Given the description of an element on the screen output the (x, y) to click on. 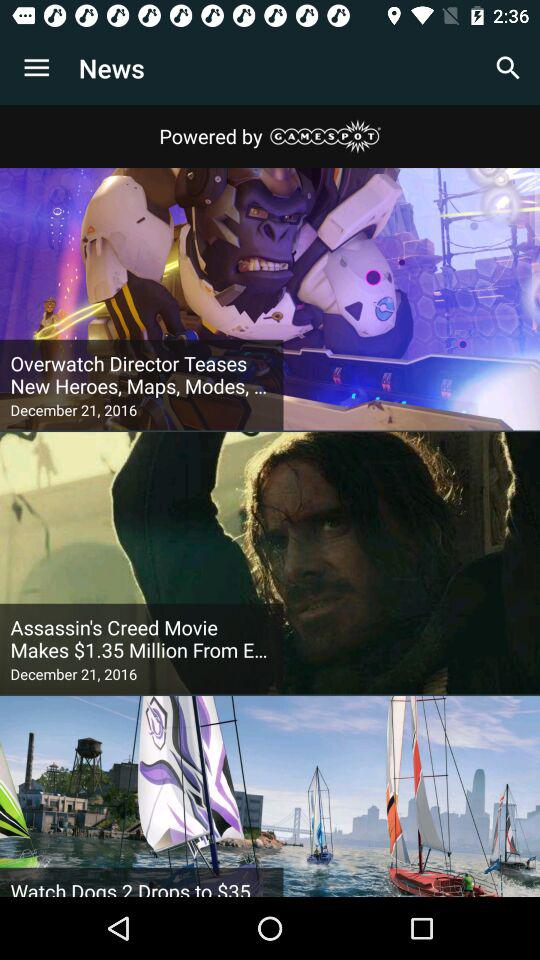
press the overwatch director teases icon (141, 375)
